Given the description of an element on the screen output the (x, y) to click on. 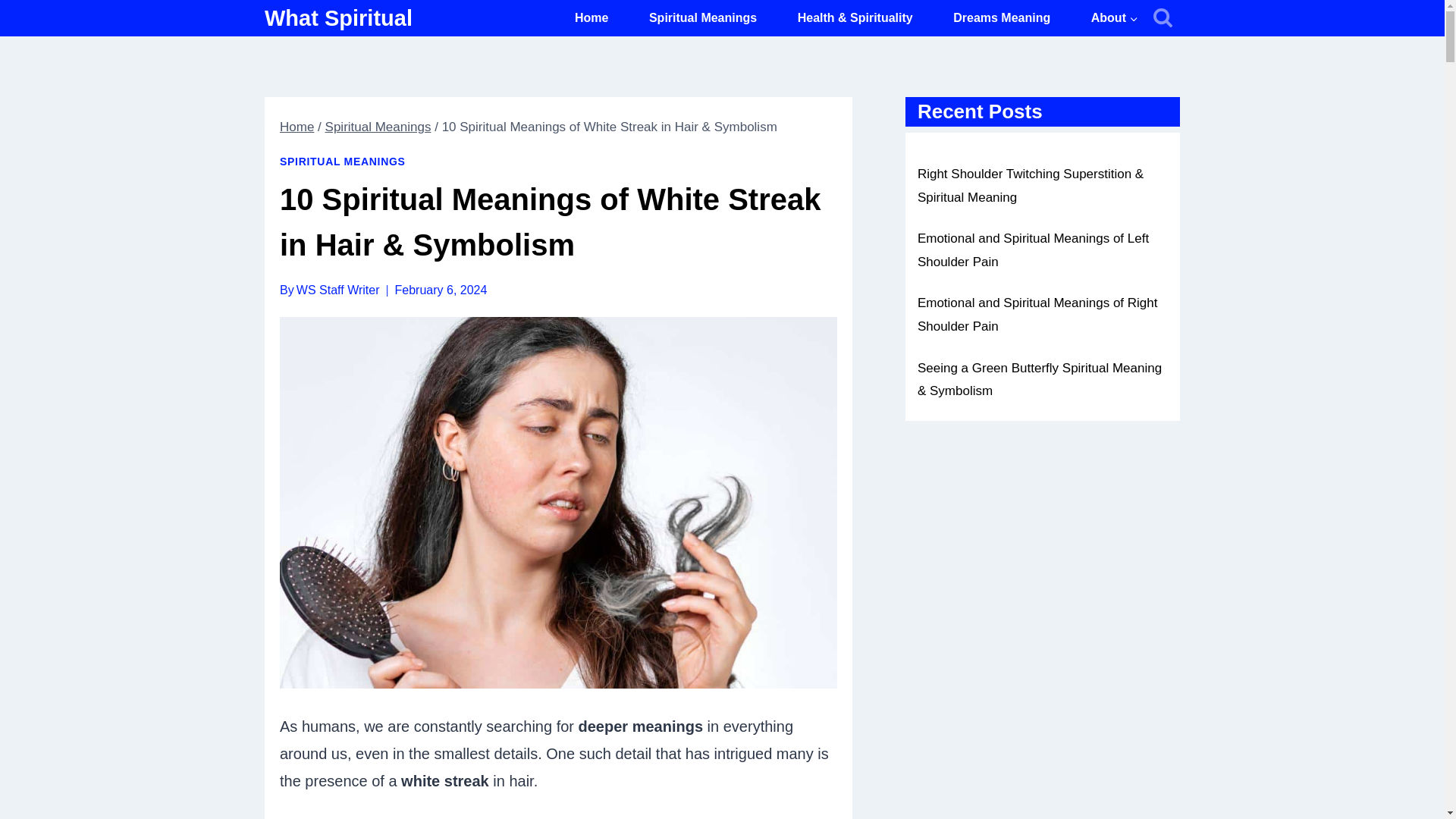
WS Staff Writer (338, 289)
Dreams Meaning (1001, 18)
Home (591, 18)
About (1114, 18)
Home (296, 126)
Spiritual Meanings (703, 18)
SPIRITUAL MEANINGS (342, 161)
What Spiritual (338, 17)
Spiritual Meanings (377, 126)
